Given the description of an element on the screen output the (x, y) to click on. 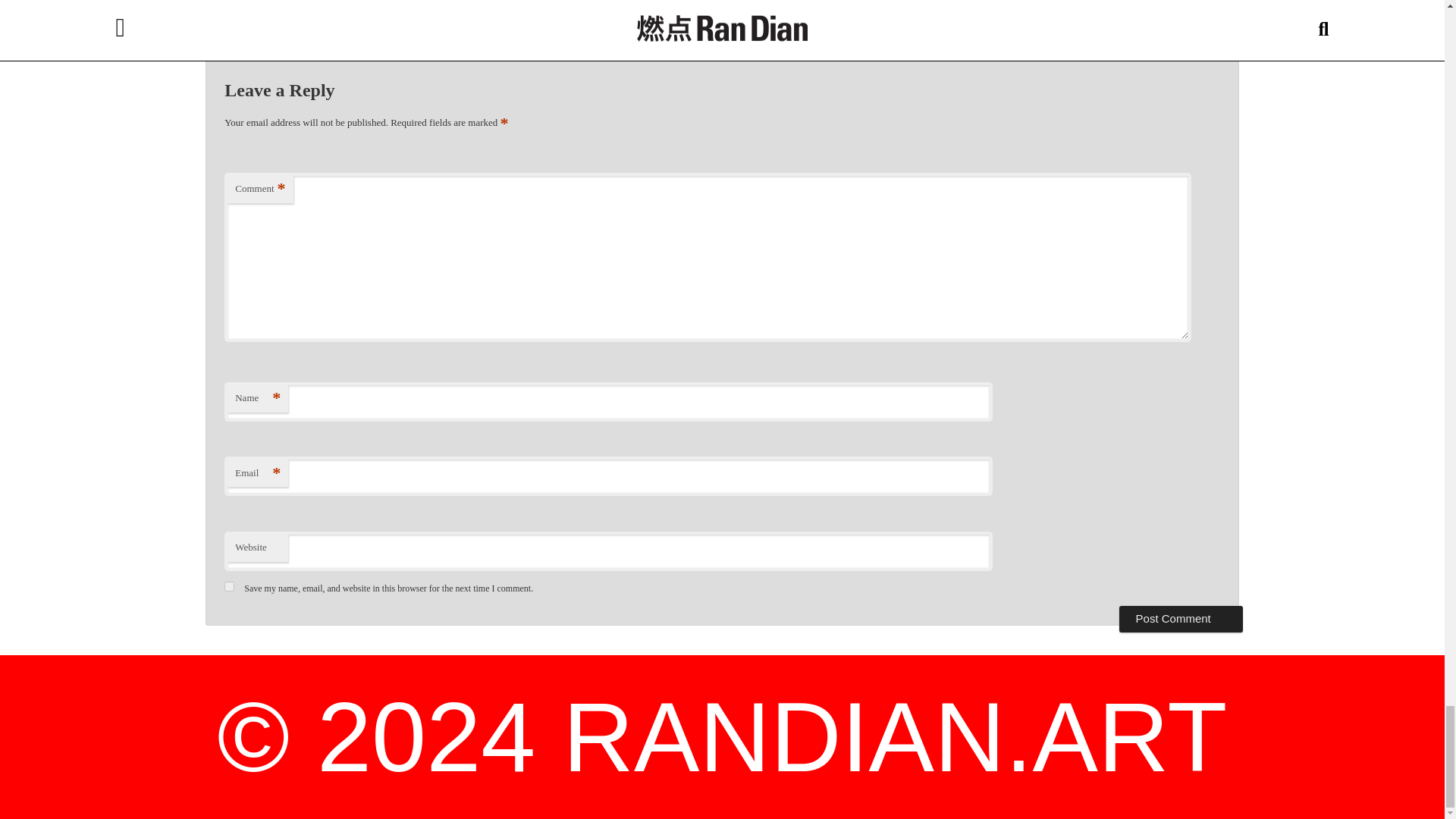
Ran Dian magazine (769, 3)
Katy Pinke (390, 3)
randian (929, 3)
Post Comment (1181, 618)
performance art (549, 3)
Ran Dian (707, 3)
Permalink to Here, What Matters is Performance (931, 14)
yes (229, 586)
magazine (495, 3)
Liang Shuhan (443, 3)
Performance Art Festival (635, 3)
randian online (977, 3)
